Given the description of an element on the screen output the (x, y) to click on. 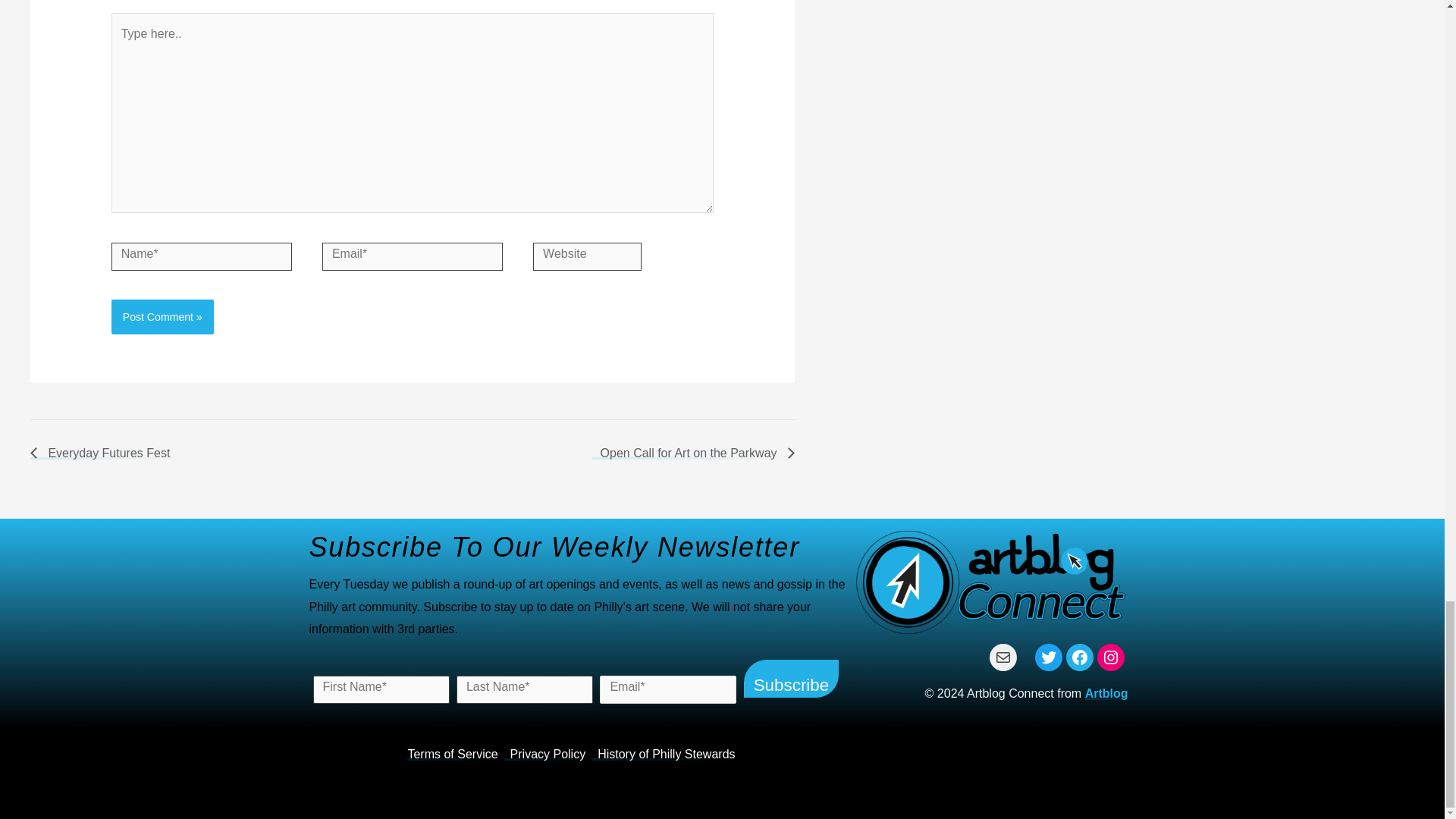
Subscribe (791, 678)
Subscribe (791, 678)
Open Call for Art on the Parkway (693, 452)
Everyday Futures Fest (103, 452)
